Given the description of an element on the screen output the (x, y) to click on. 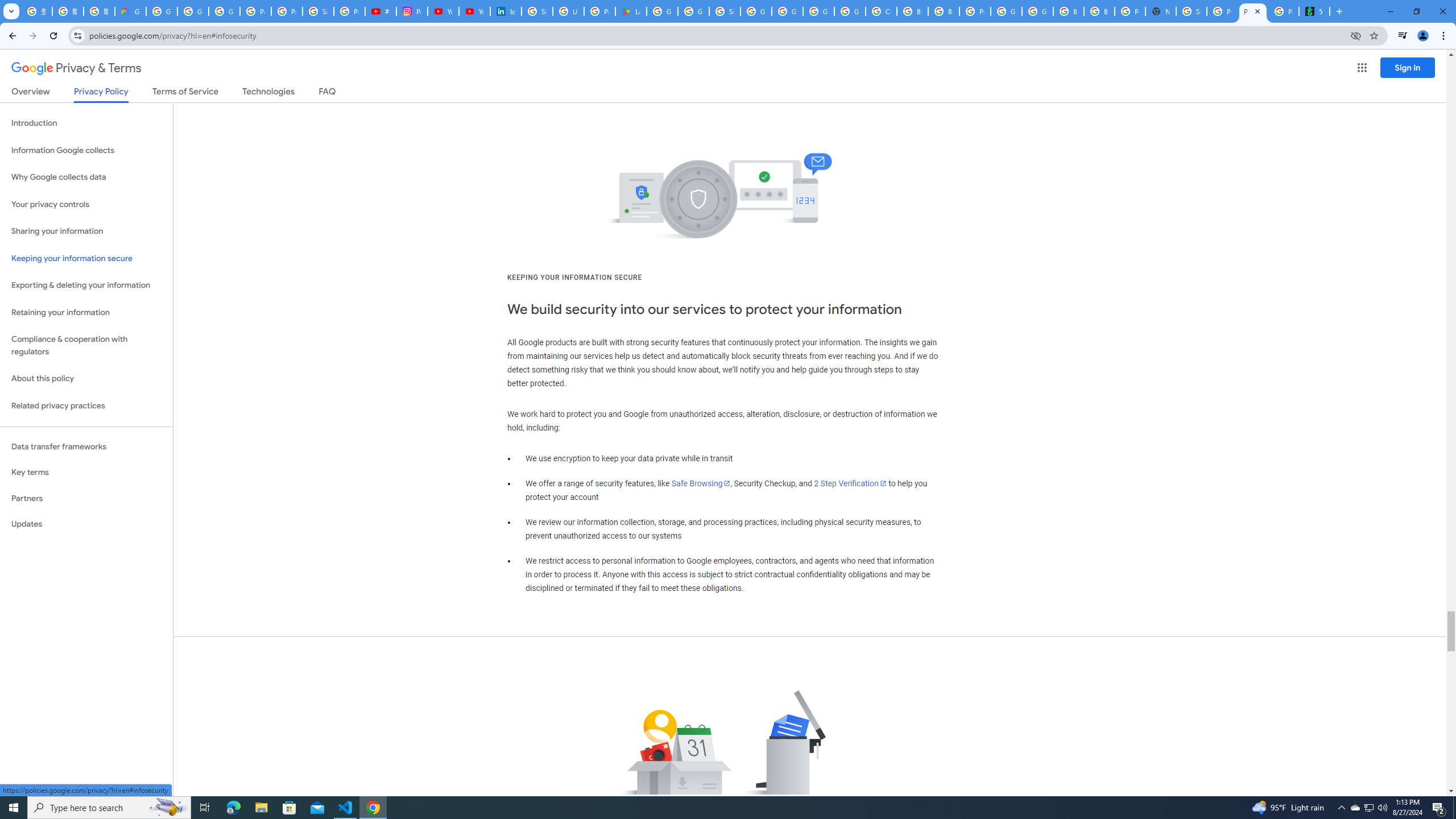
Sign in - Google Accounts (724, 11)
#nbabasketballhighlights - YouTube (380, 11)
Google Cloud Platform (1005, 11)
